Given the description of an element on the screen output the (x, y) to click on. 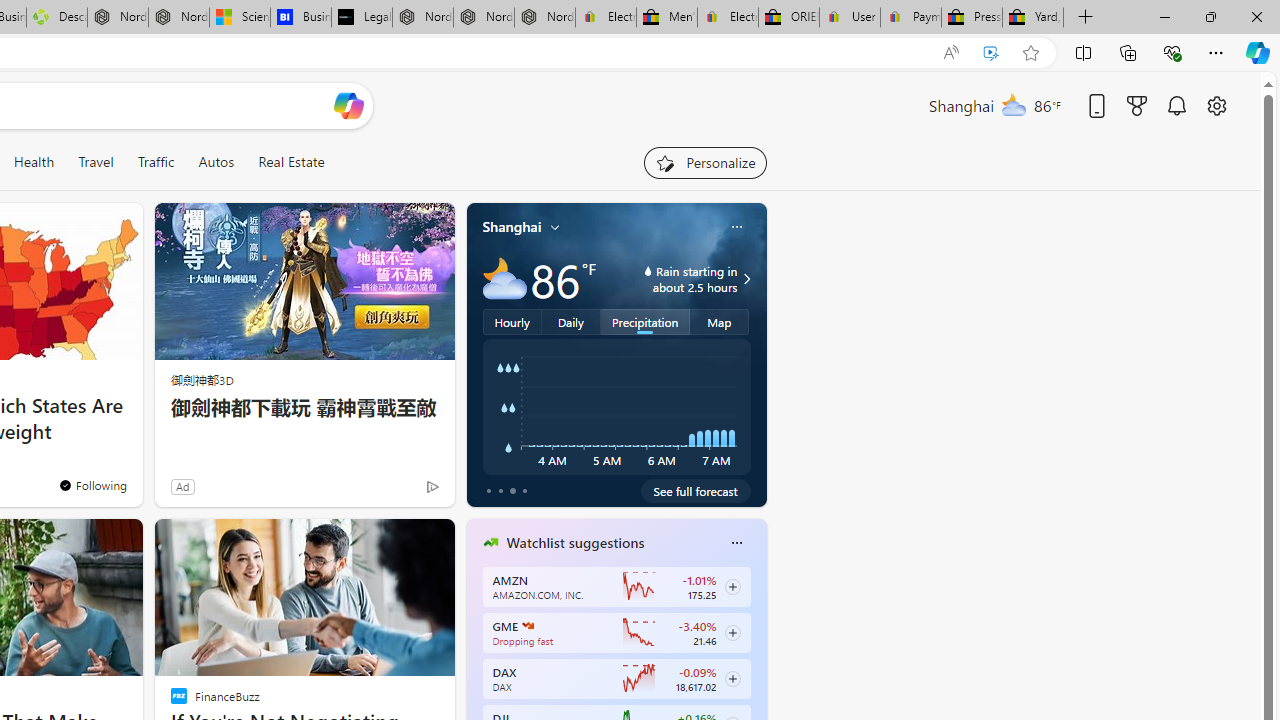
Enhance video (991, 53)
You're following MSNBC (390, 490)
Map (719, 321)
Descarga Driver Updater (56, 17)
tab-2 (511, 490)
Rain starting in about 2.5 hours (744, 278)
